Given the description of an element on the screen output the (x, y) to click on. 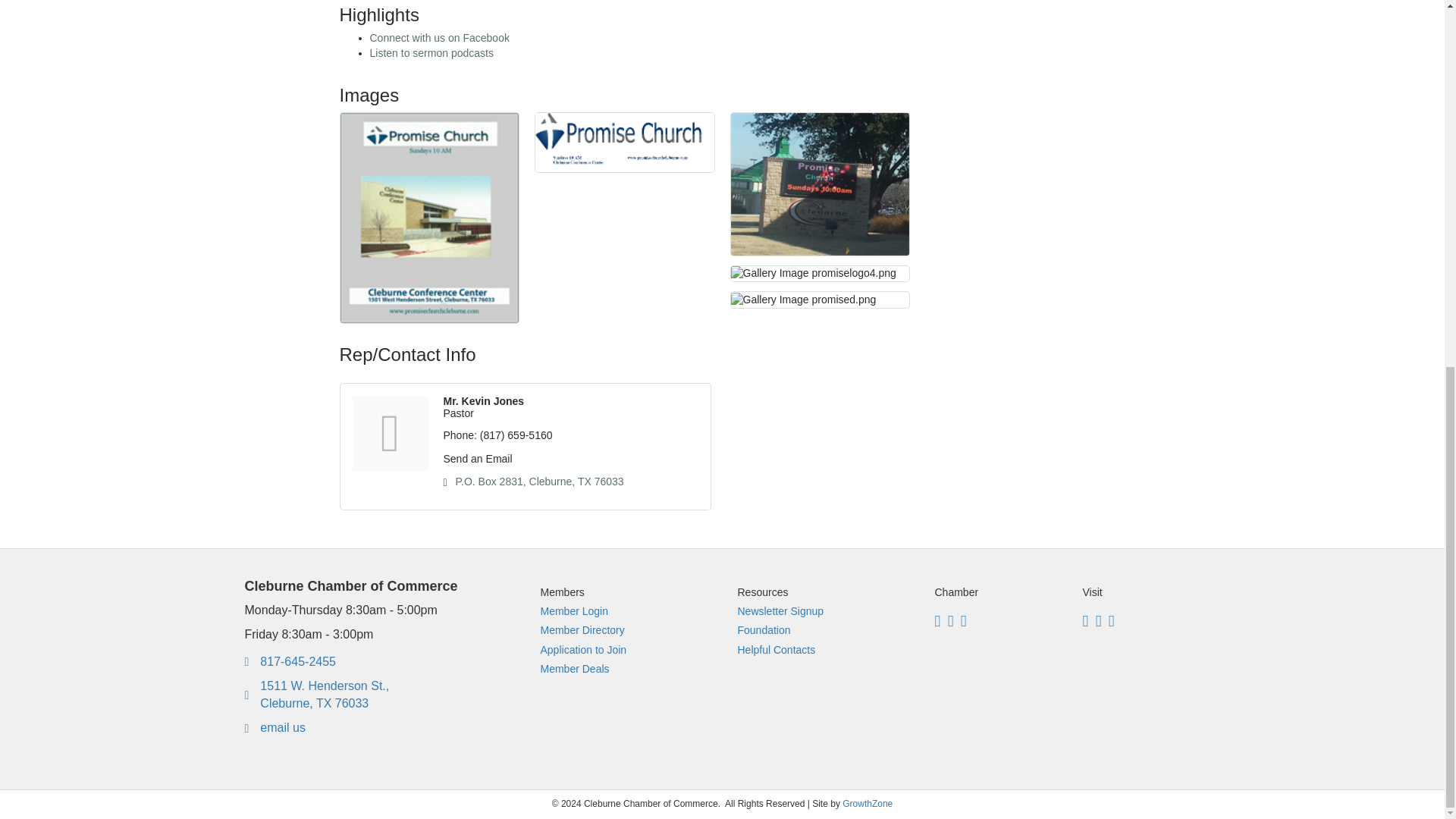
Gallery Image promised.png (803, 299)
Gallery Image promiselogo4.png (813, 273)
